Given the description of an element on the screen output the (x, y) to click on. 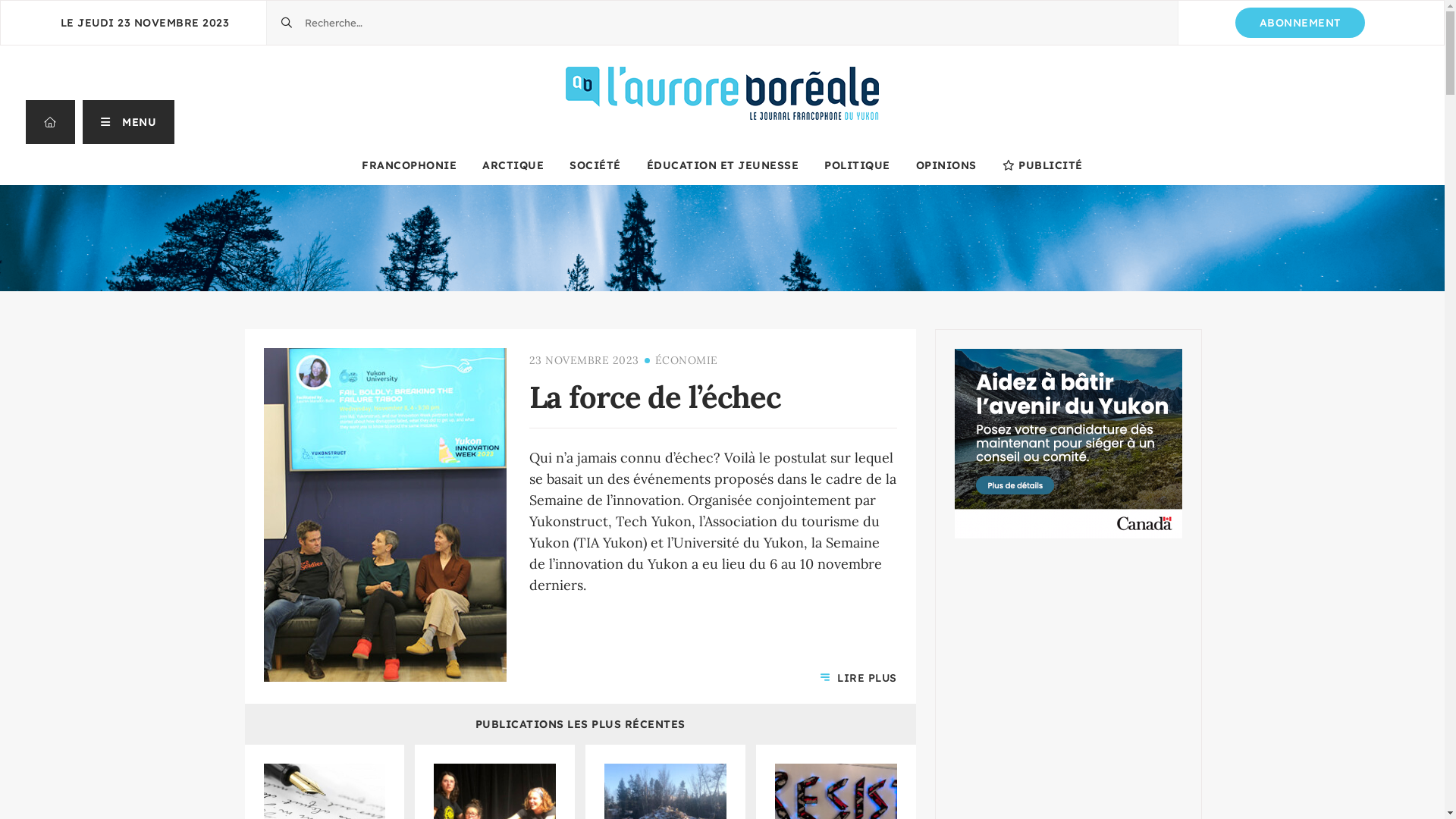
ARCTIQUE Element type: text (512, 165)
FRANCOPHONIE Element type: text (408, 165)
ABONNEMENT Element type: text (1299, 22)
OPINIONS Element type: text (946, 165)
Rechercher Element type: text (266, 1)
3rd party ad content Element type: hover (1067, 443)
POLITIQUE Element type: text (857, 165)
